Given the description of an element on the screen output the (x, y) to click on. 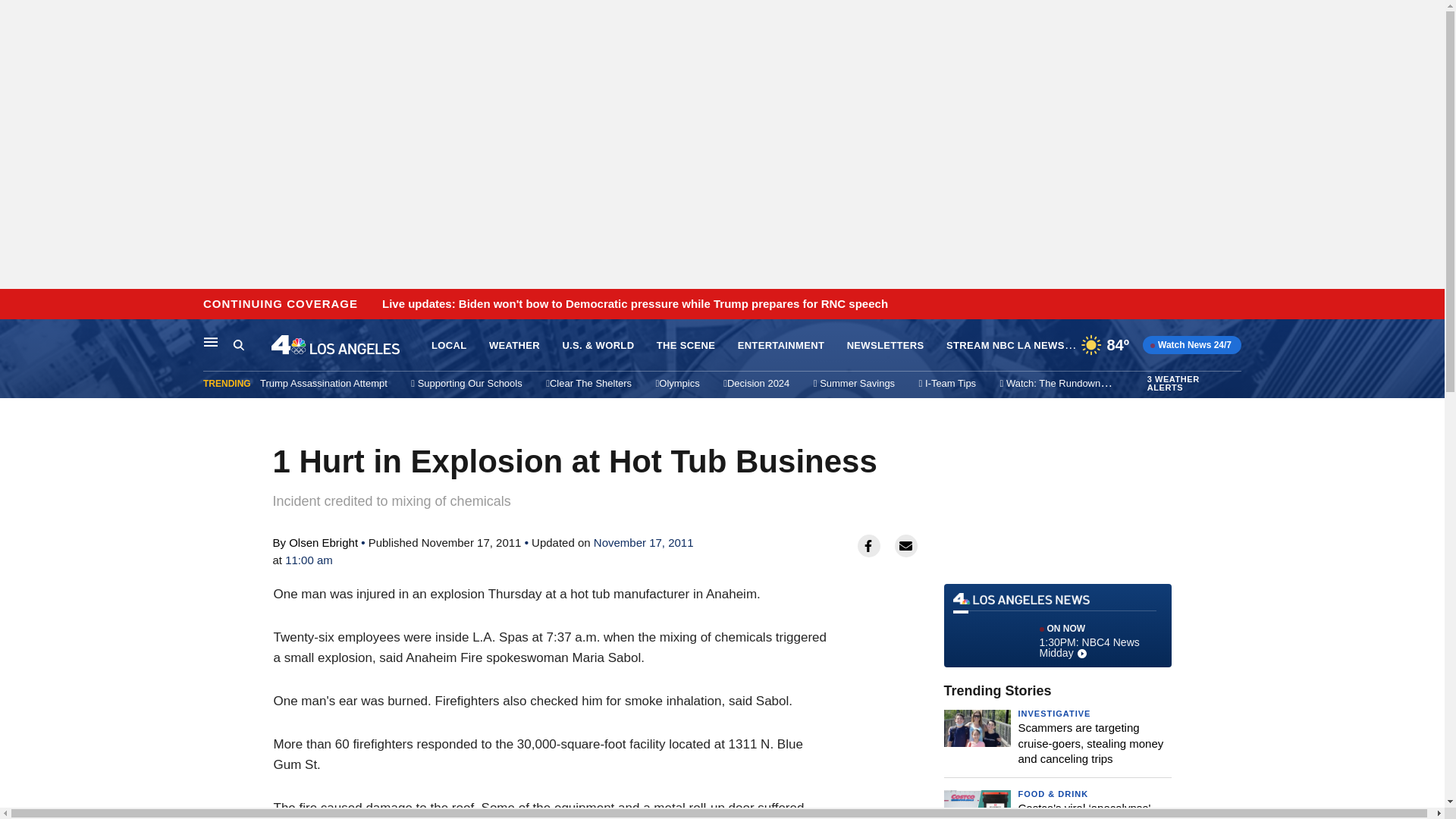
Skip to content (16, 304)
LOCAL (447, 345)
NEWSLETTERS (885, 345)
Trump Assassination Attempt (323, 383)
THE SCENE (685, 345)
INVESTIGATIVE (1053, 713)
Search (238, 344)
Search (1056, 625)
WEATHER (252, 345)
ENTERTAINMENT (514, 345)
3 WEATHER ALERTS (781, 345)
Main Navigation (1192, 383)
